Given the description of an element on the screen output the (x, y) to click on. 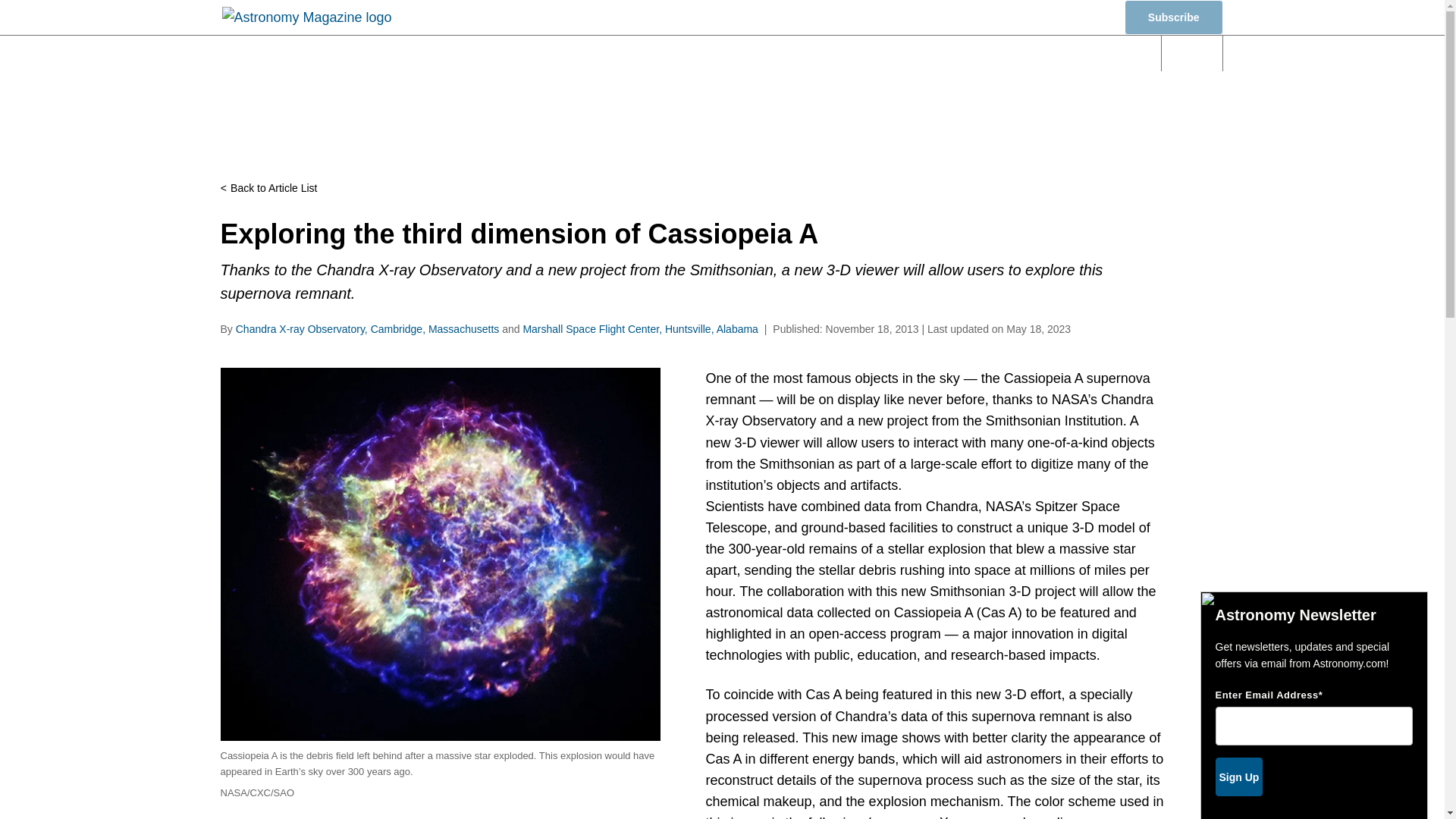
Sign Up (1238, 776)
Posts by Marshall Space Flight Center, Huntsville, Alabama (639, 328)
Ask Astro (1096, 53)
The Magazine (987, 53)
News (532, 53)
Shop (1081, 18)
Space Exploration (850, 53)
Observing (720, 53)
Search (1192, 53)
Posts by Chandra X-ray Observatory, Cambridge, Massachusetts (367, 328)
